Given the description of an element on the screen output the (x, y) to click on. 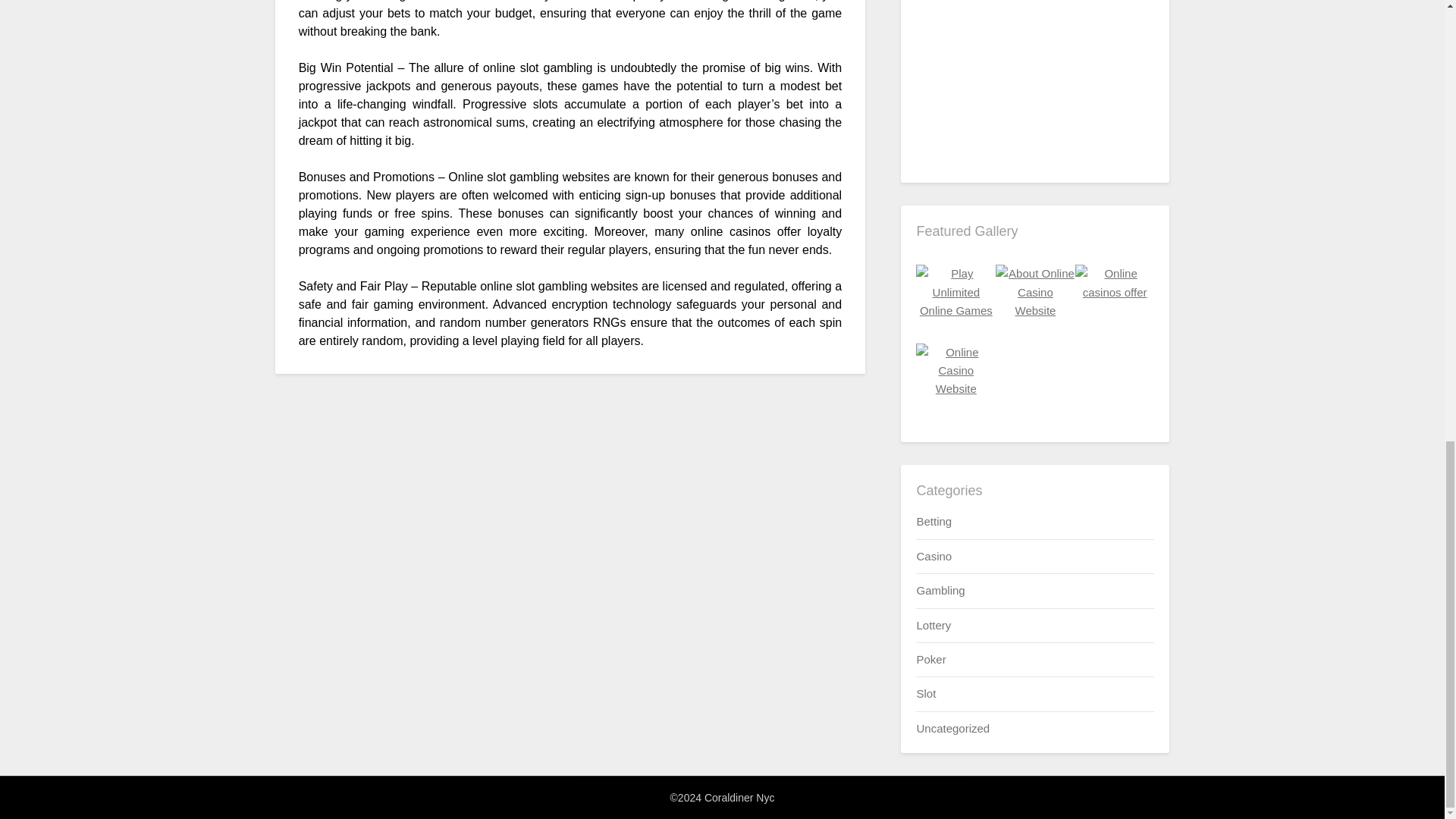
Betting (933, 521)
Uncategorized (952, 727)
Casino (933, 555)
Lottery (932, 625)
Slot (925, 693)
Poker (929, 658)
Gambling (939, 590)
